Given the description of an element on the screen output the (x, y) to click on. 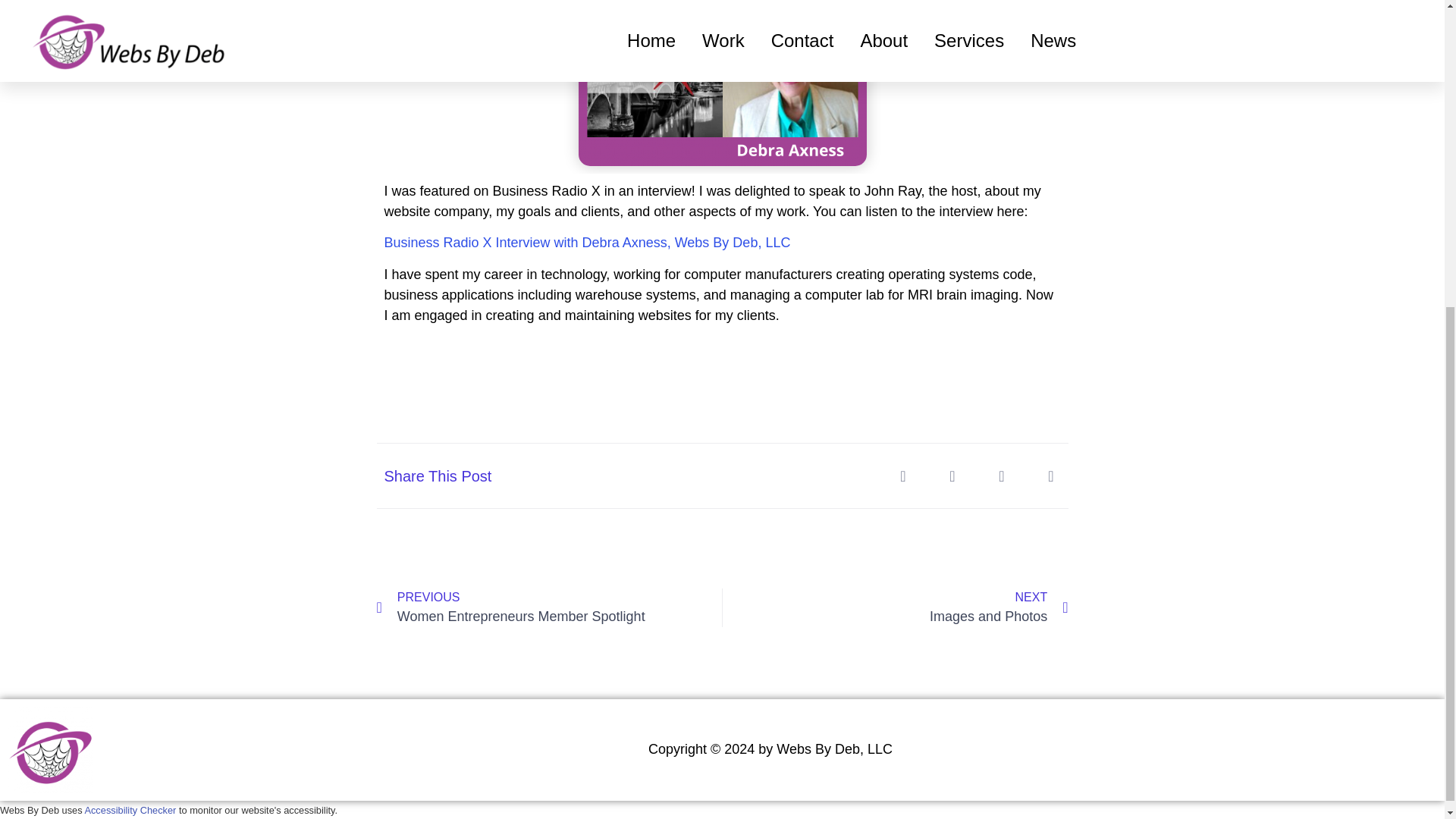
Accessibility Checker (548, 607)
